Given the description of an element on the screen output the (x, y) to click on. 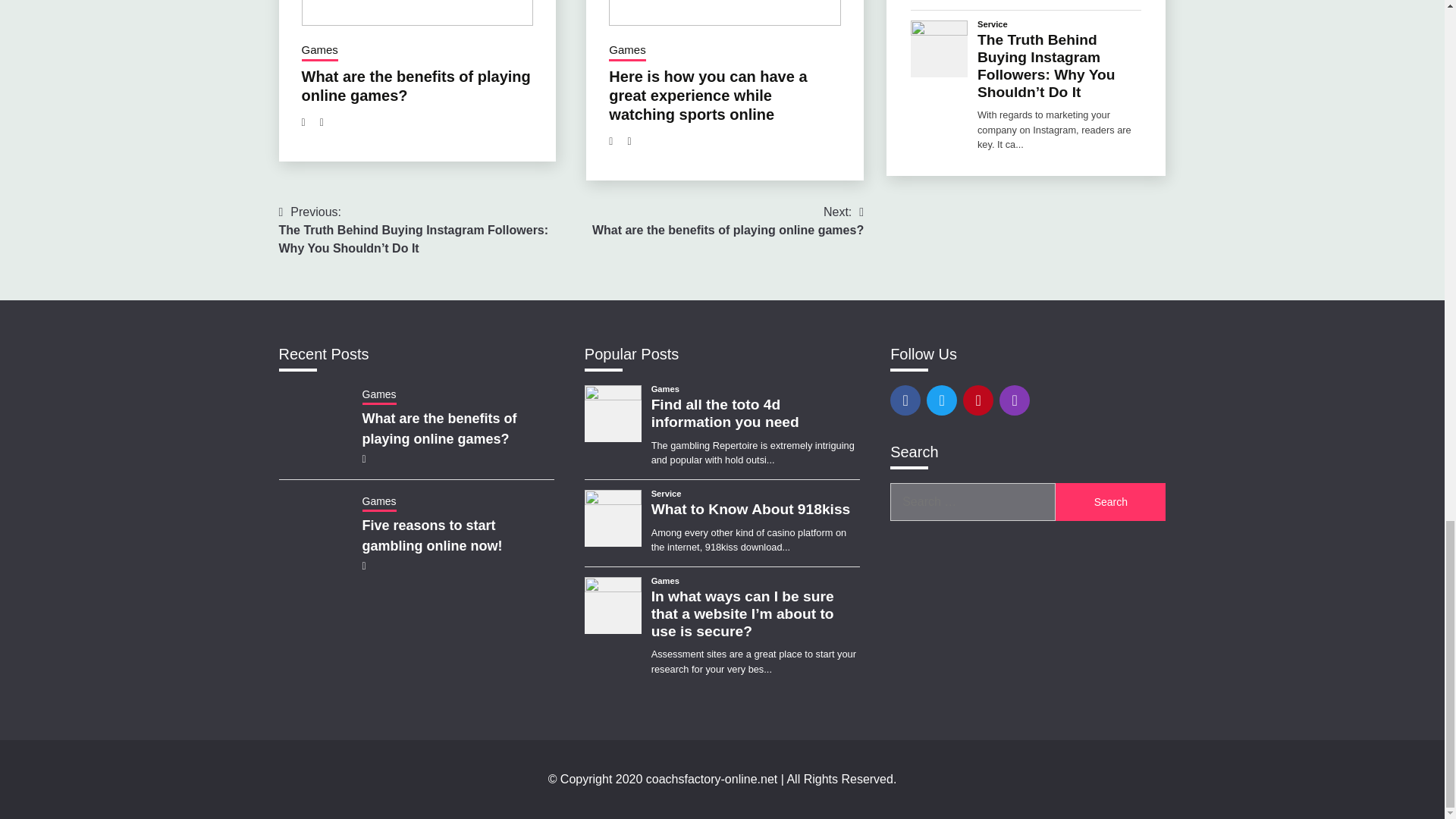
Search (1110, 501)
Games (626, 51)
Games (319, 51)
What are the benefits of playing online games? (416, 85)
Search (1110, 501)
